Given the description of an element on the screen output the (x, y) to click on. 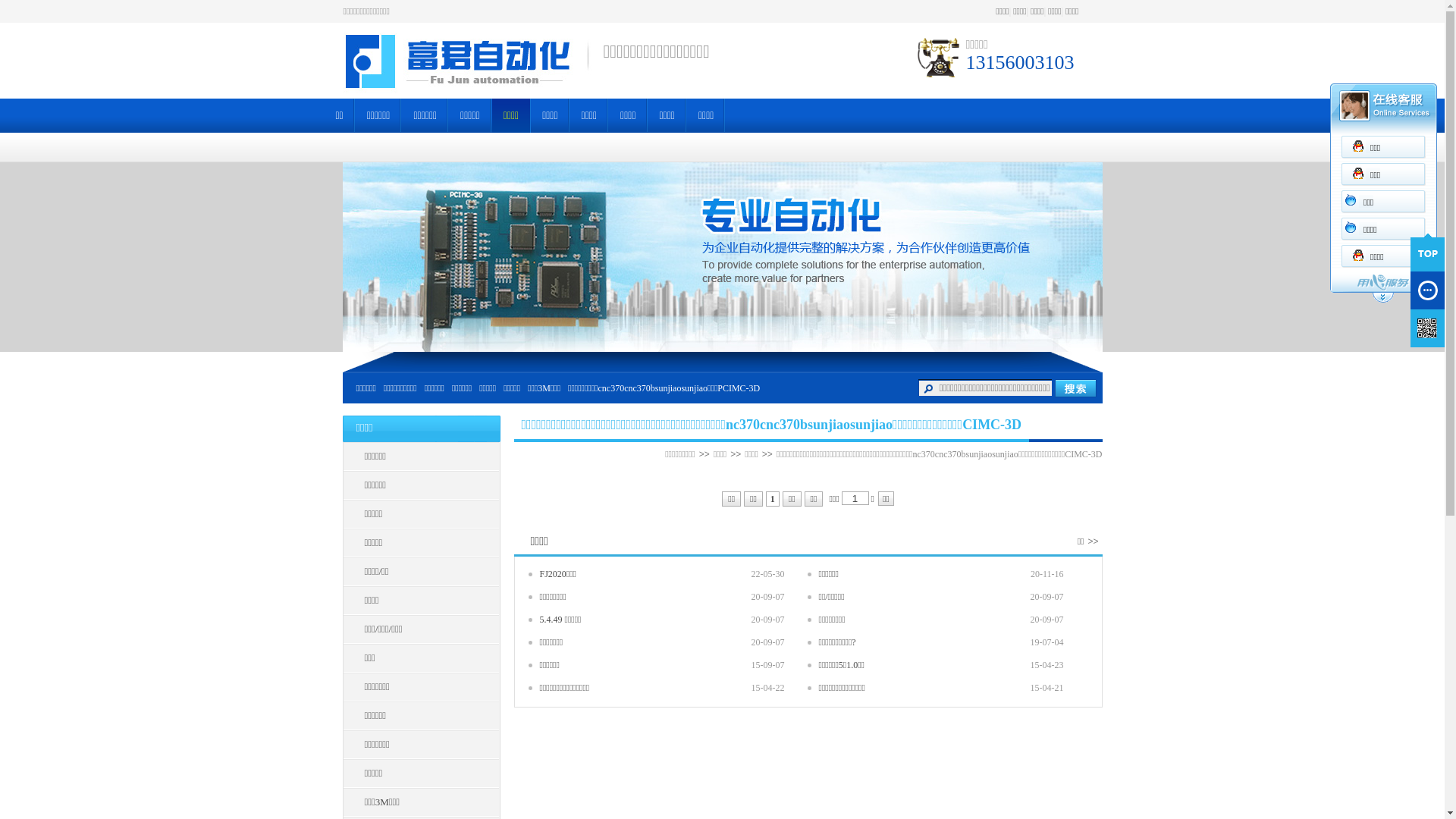
fujuncnc_4766_20150416171117.jpg Element type: hover (722, 256)
Logo Element type: hover (469, 61)
